Given the description of an element on the screen output the (x, y) to click on. 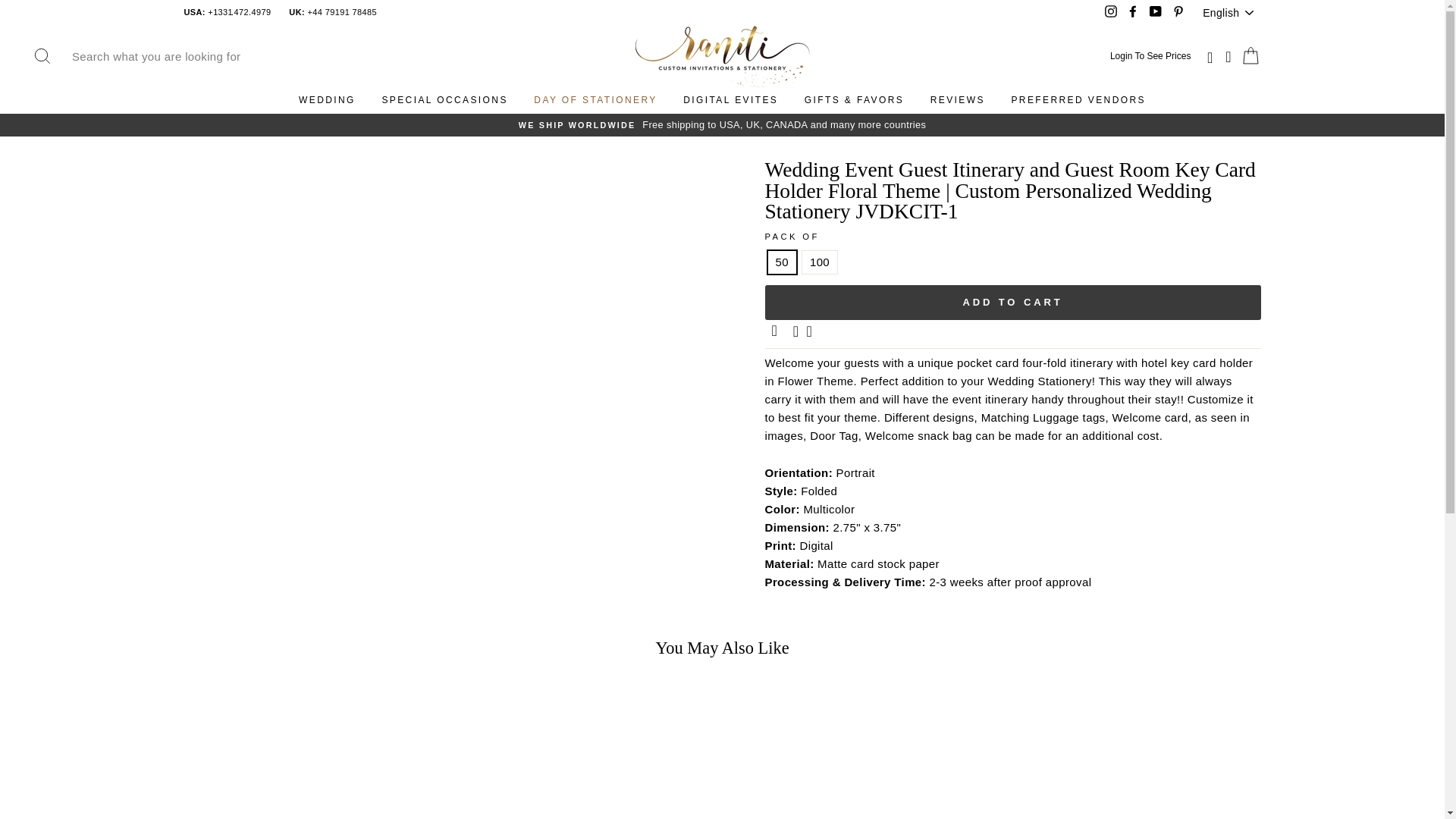
Share by Email (775, 331)
